Given the description of an element on the screen output the (x, y) to click on. 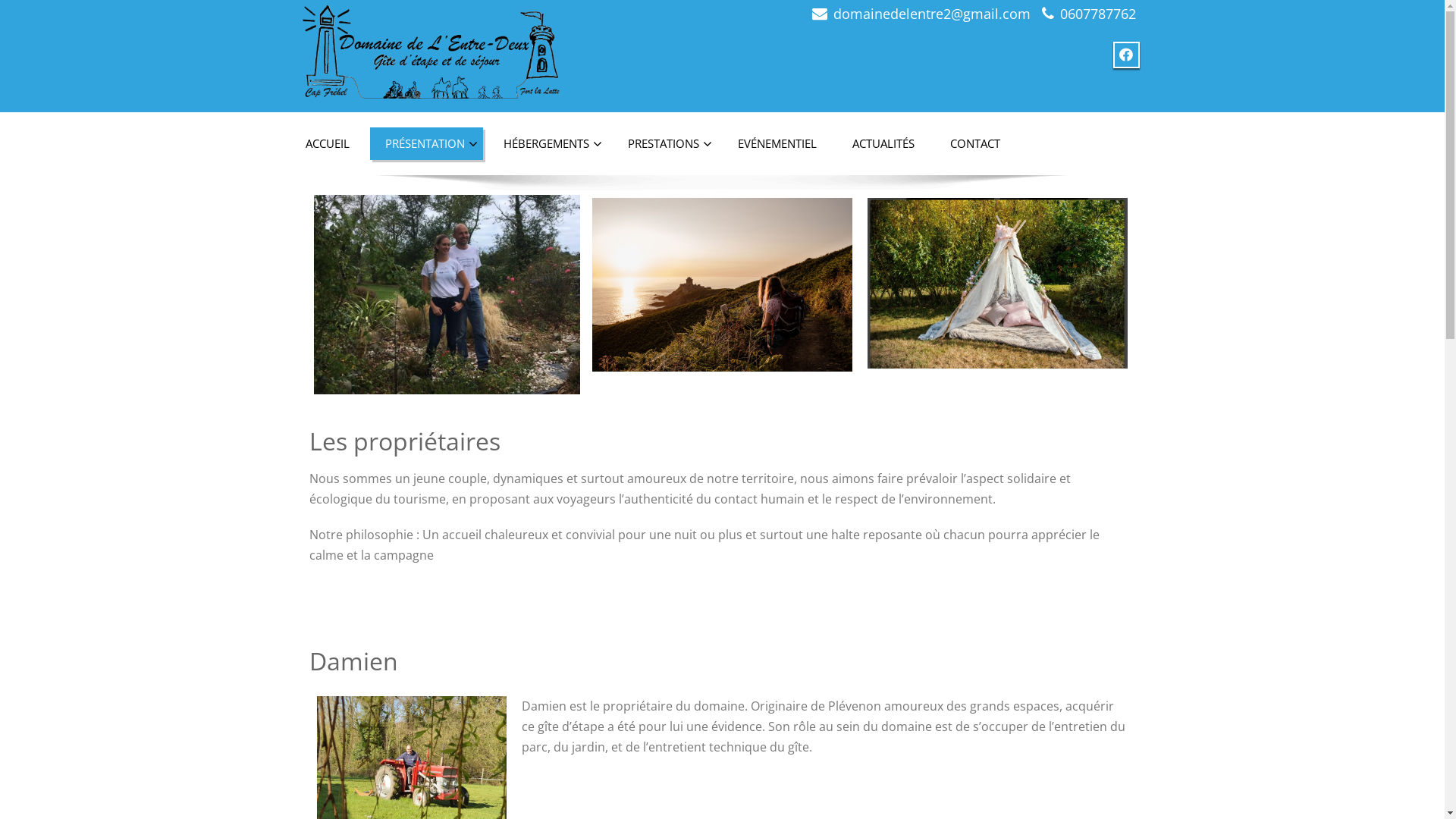
0607787762 Element type: text (1097, 13)
Domaine de l'Entre-Deux Element type: hover (434, 45)
ACCUEIL Element type: text (326, 143)
PRESTATIONS Element type: text (664, 143)
domainedelentre2@gmail.com Element type: text (930, 13)
CONTACT Element type: text (974, 143)
